Given the description of an element on the screen output the (x, y) to click on. 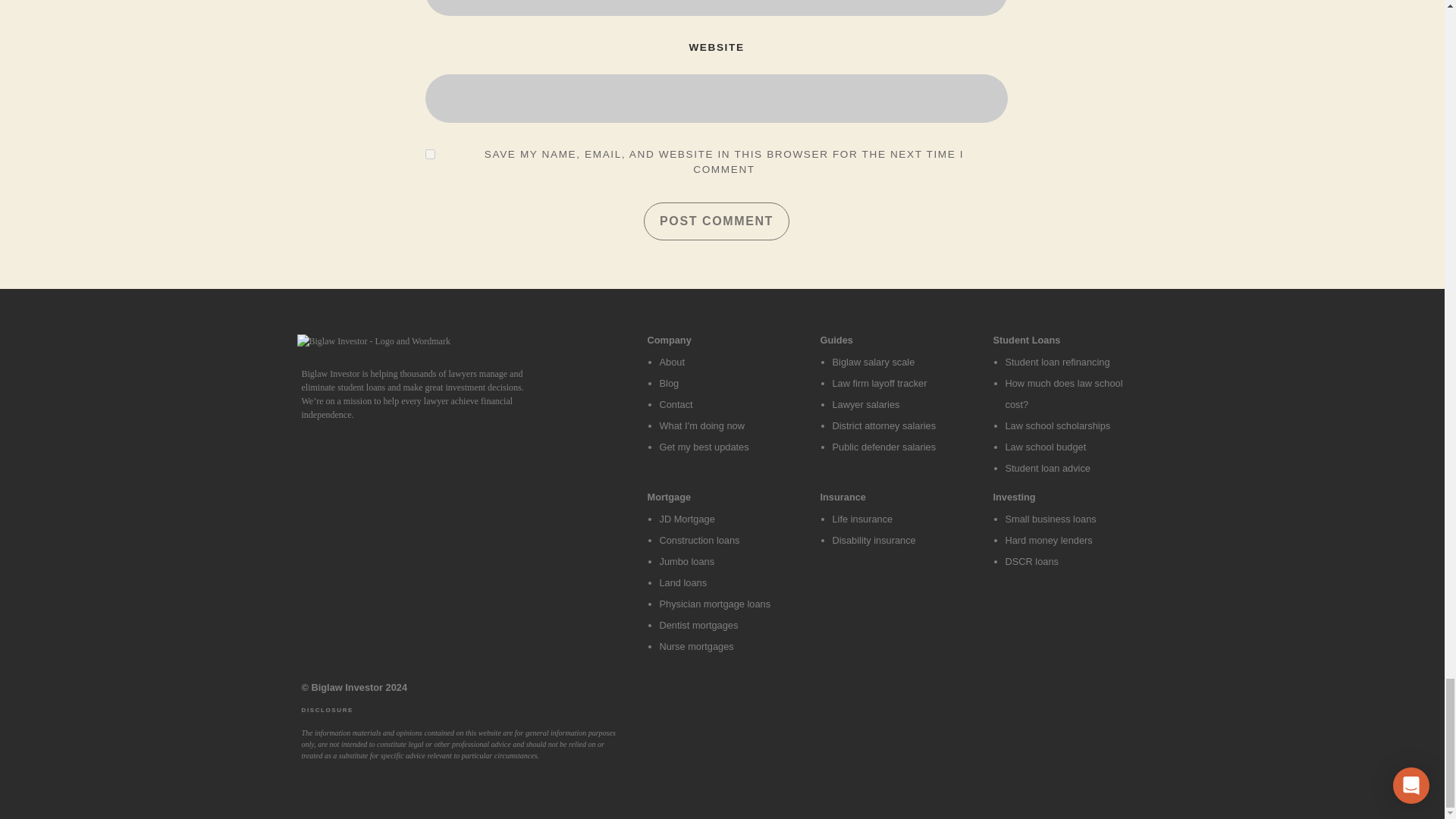
yes (430, 153)
Post Comment (716, 221)
